Given the description of an element on the screen output the (x, y) to click on. 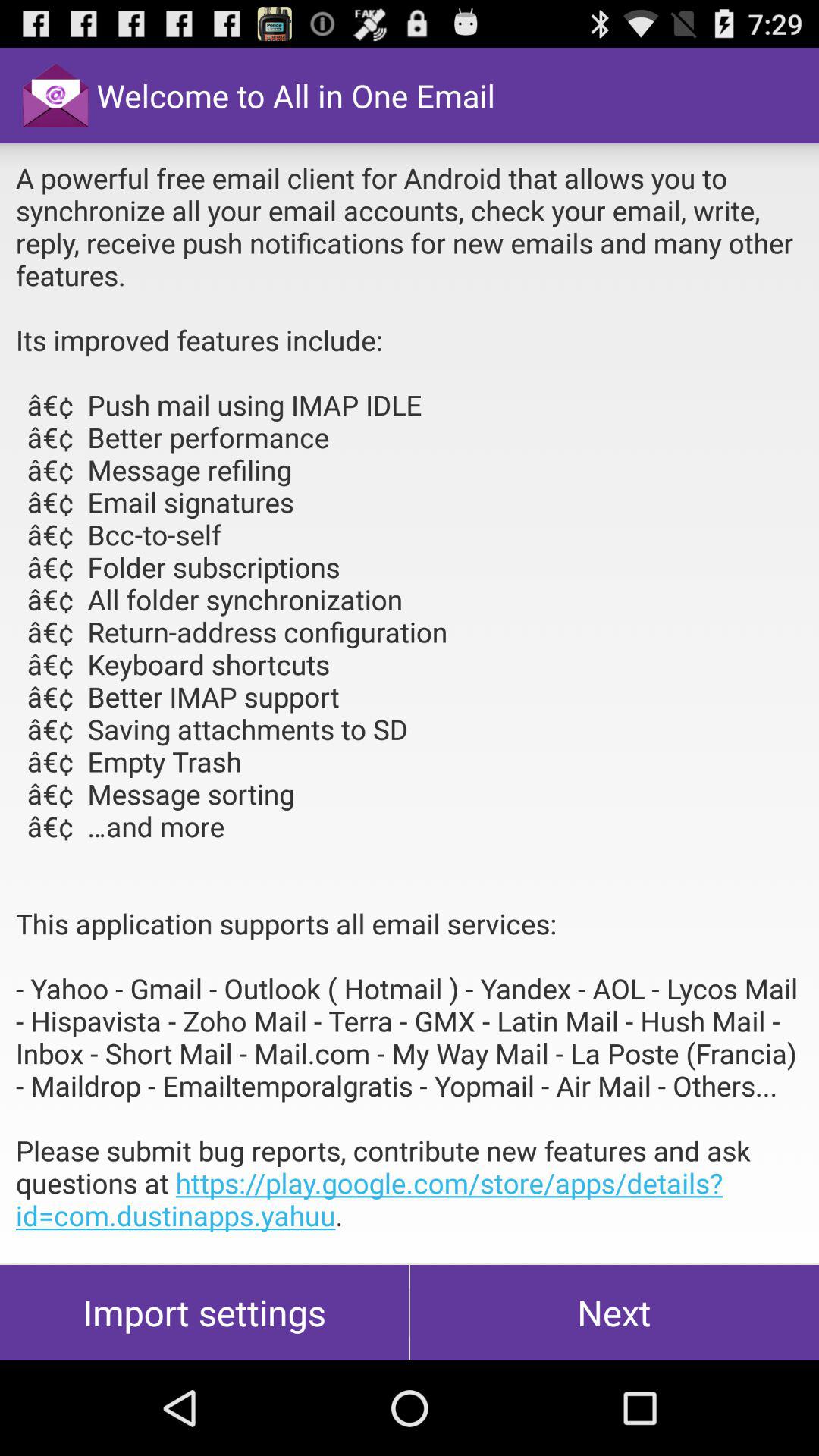
select the icon next to import settings item (614, 1312)
